Given the description of an element on the screen output the (x, y) to click on. 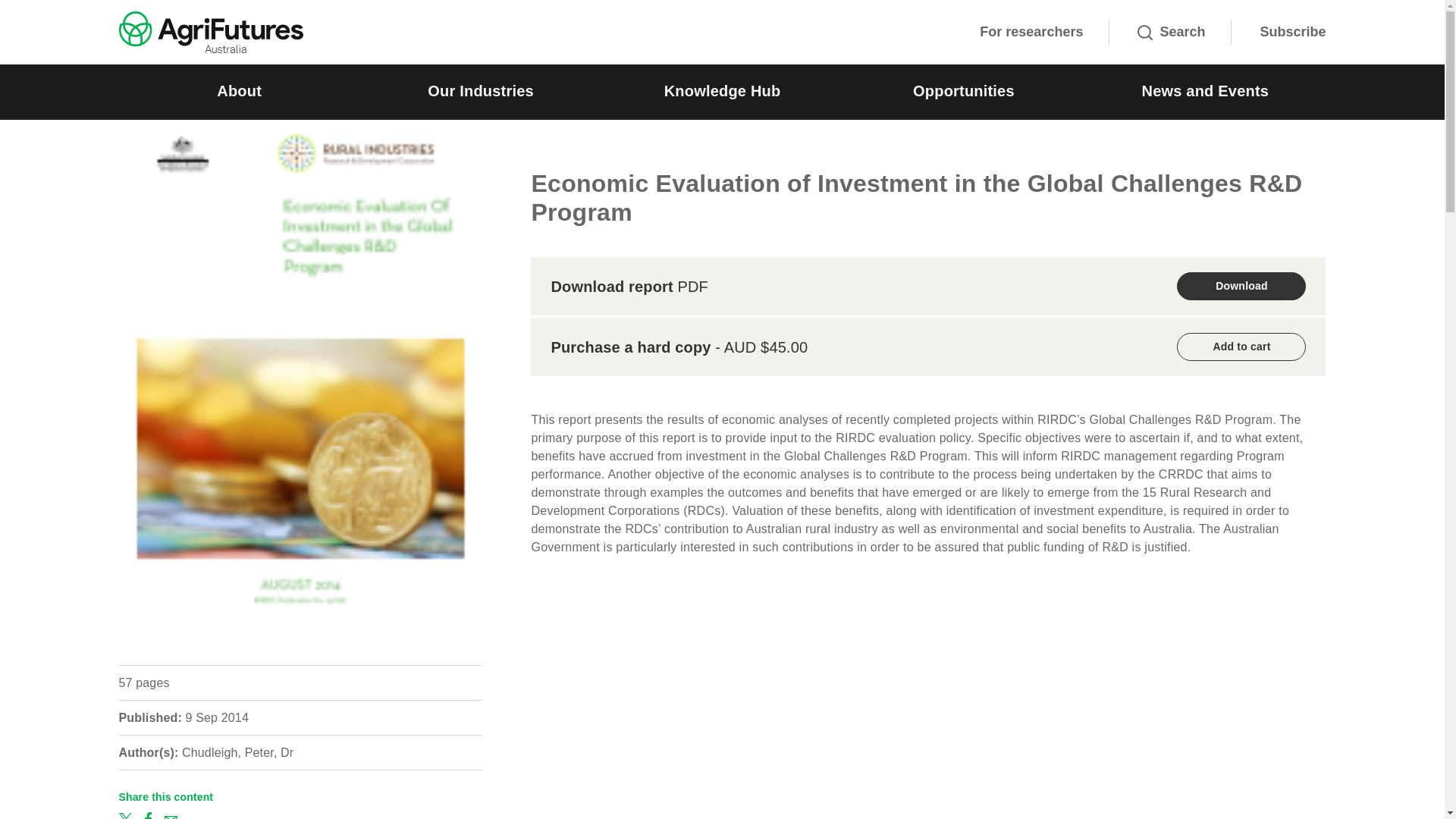
Our Industries (480, 91)
For researchers (1031, 31)
Knowledge Hub (722, 91)
Opportunities (963, 91)
About (238, 91)
Search (1171, 31)
Subscribe (1291, 31)
